Given the description of an element on the screen output the (x, y) to click on. 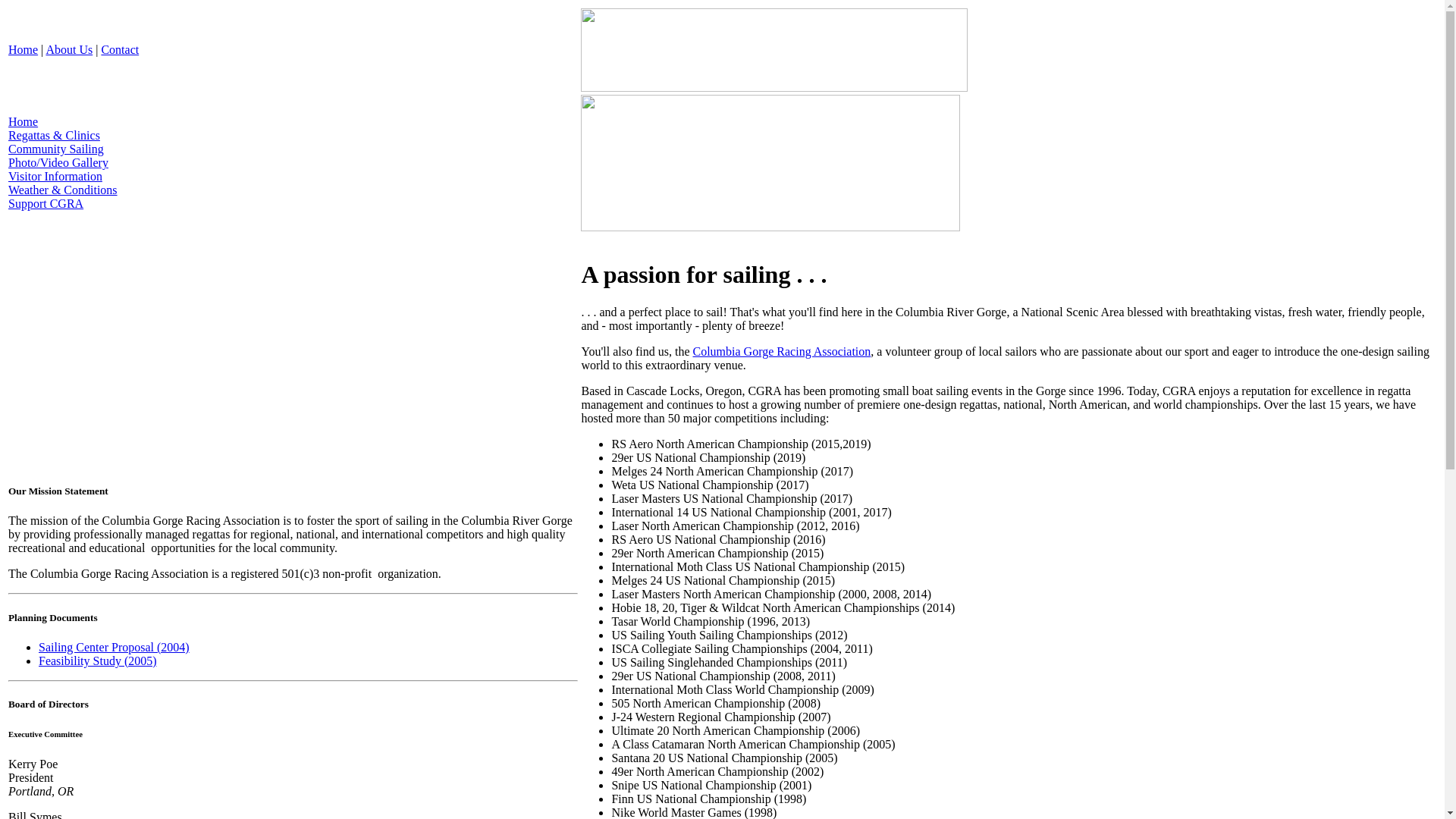
Community Sailing (55, 148)
About Us (69, 49)
Contact (119, 49)
Home (22, 49)
Visitor Information (54, 175)
Columbia Gorge Racing Association (781, 350)
Support CGRA (45, 203)
Home (22, 121)
